Given the description of an element on the screen output the (x, y) to click on. 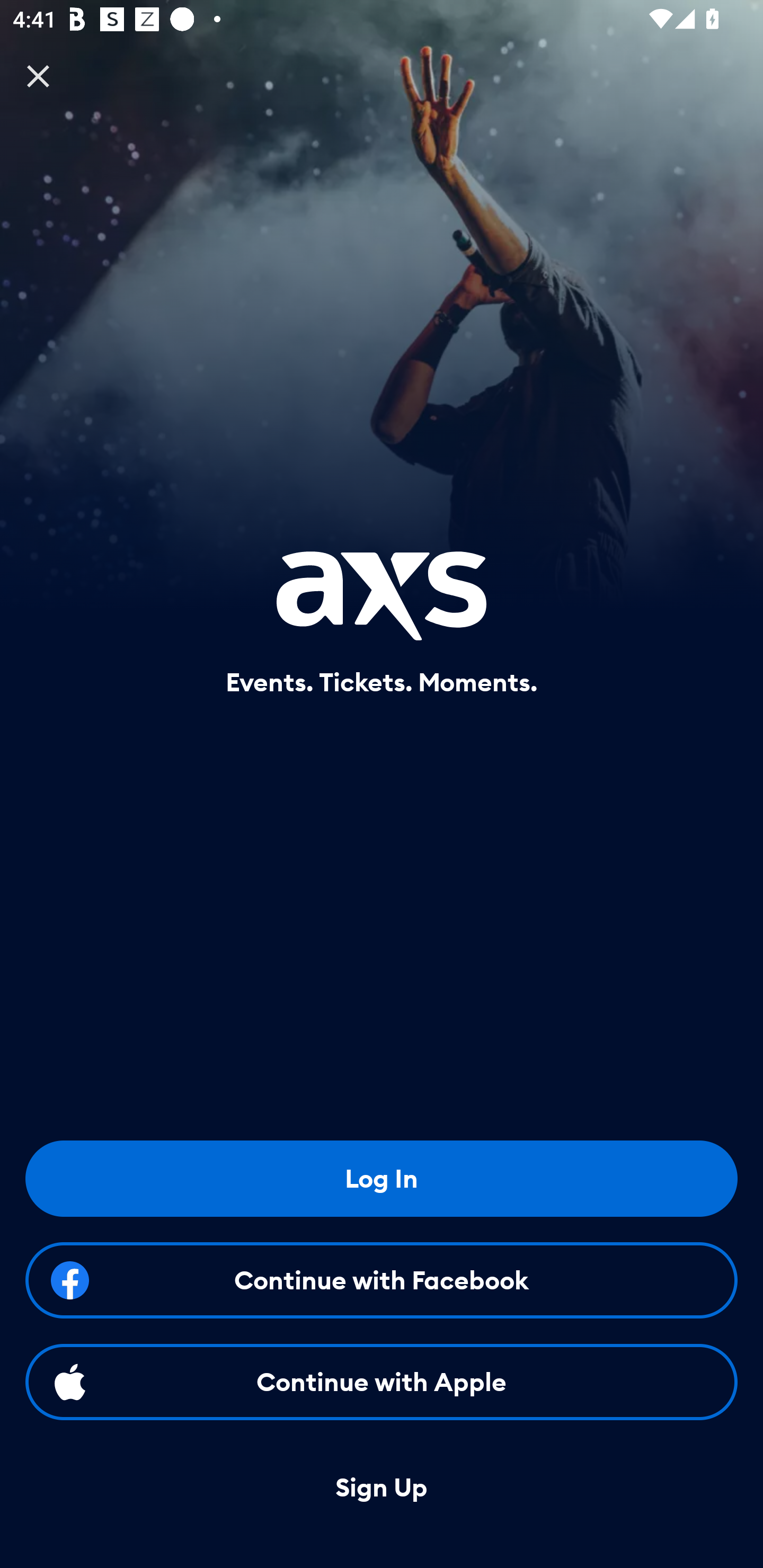
Log In (381, 1177)
Continue with Facebook (381, 1279)
Continue with Apple (381, 1381)
Sign Up (381, 1487)
